Given the description of an element on the screen output the (x, y) to click on. 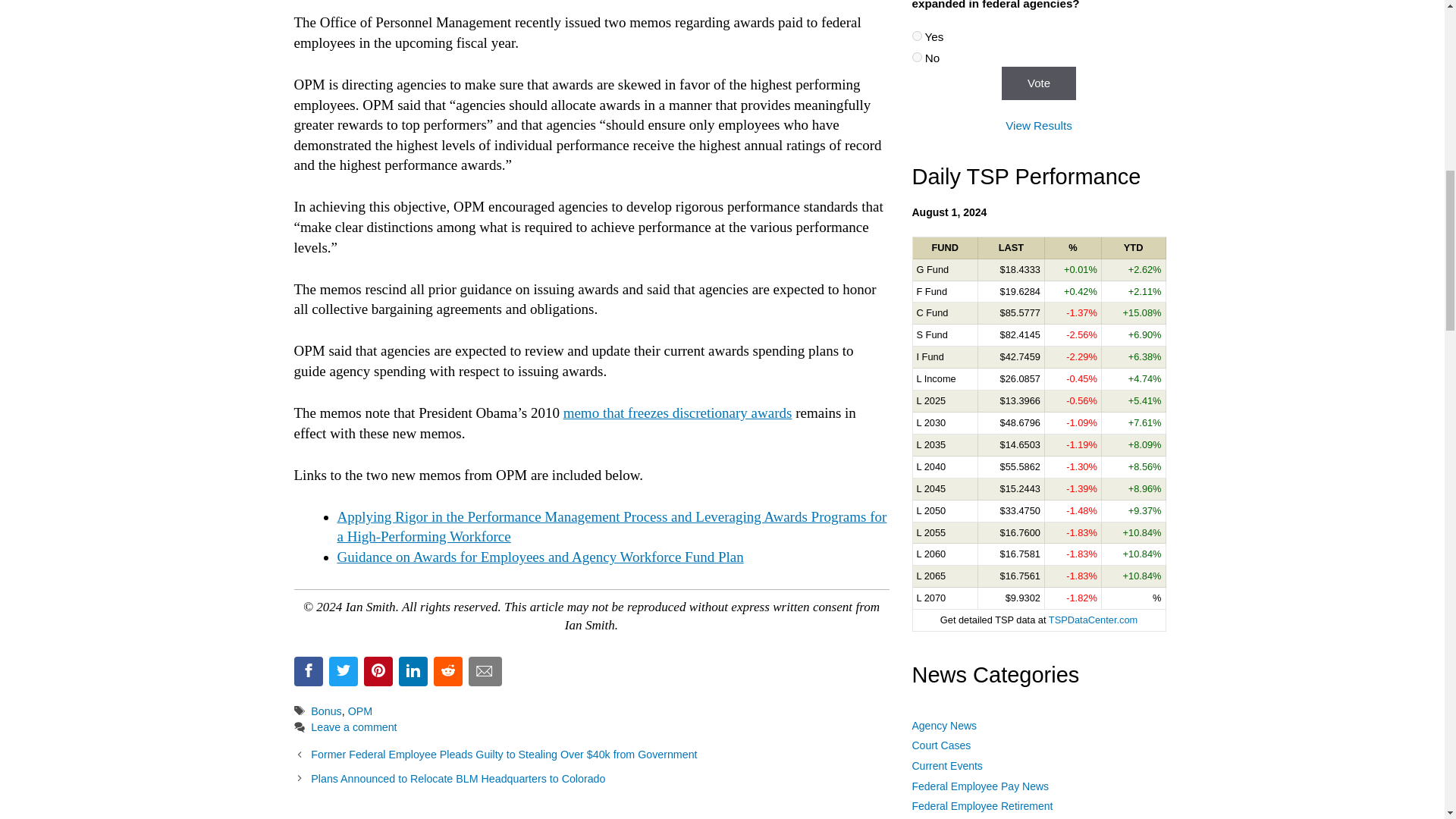
OPM (359, 711)
memo that freezes discretionary awards (677, 412)
Bonus (325, 711)
View Results Of This Poll (1038, 124)
2320 (916, 35)
2321 (916, 57)
Scroll back to top (1406, 659)
   Vote    (1038, 83)
